Given the description of an element on the screen output the (x, y) to click on. 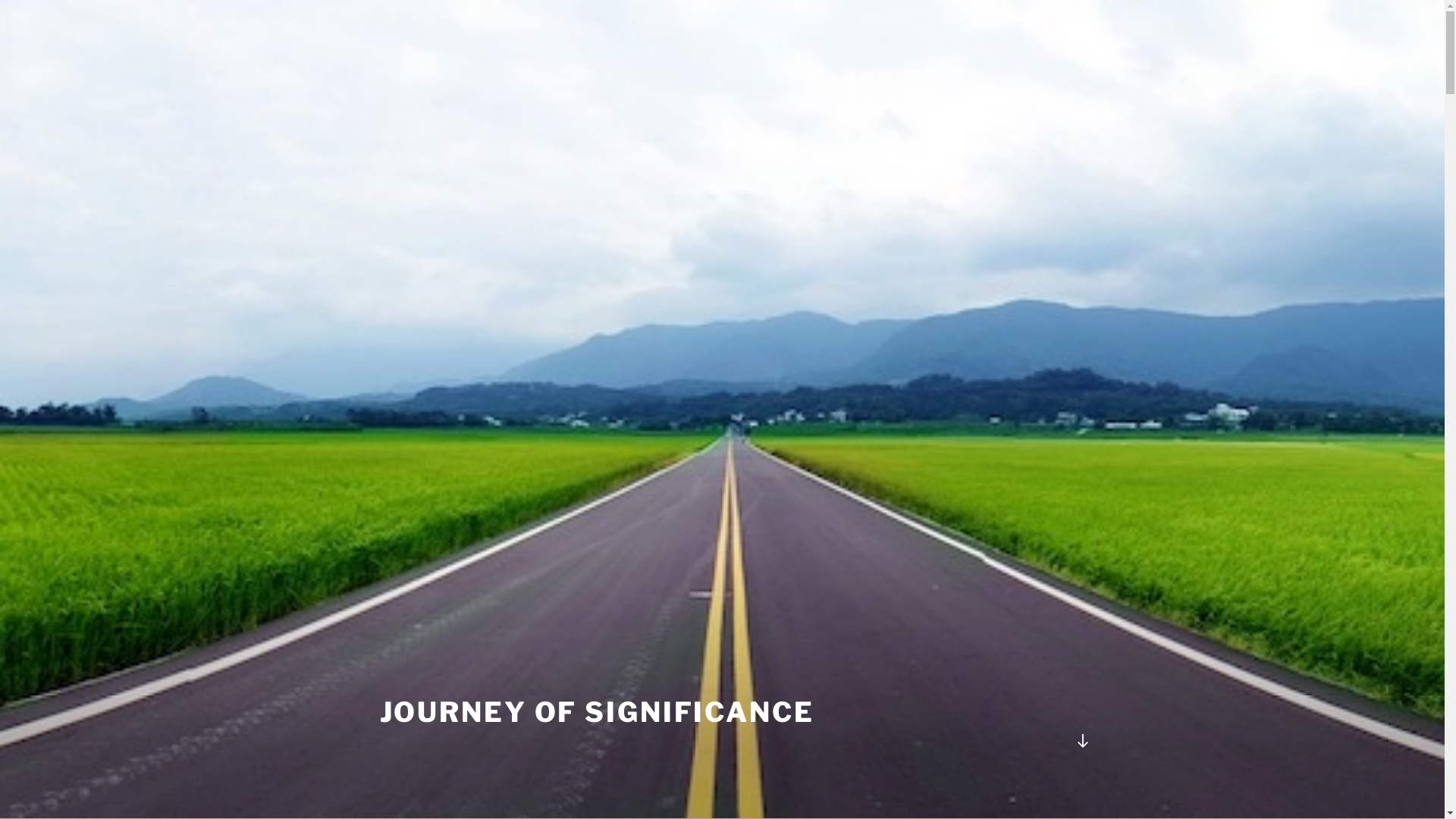
JOURNEY OF SIGNIFICANCE Element type: text (596, 711)
Scroll down to content Element type: text (1082, 740)
